Given the description of an element on the screen output the (x, y) to click on. 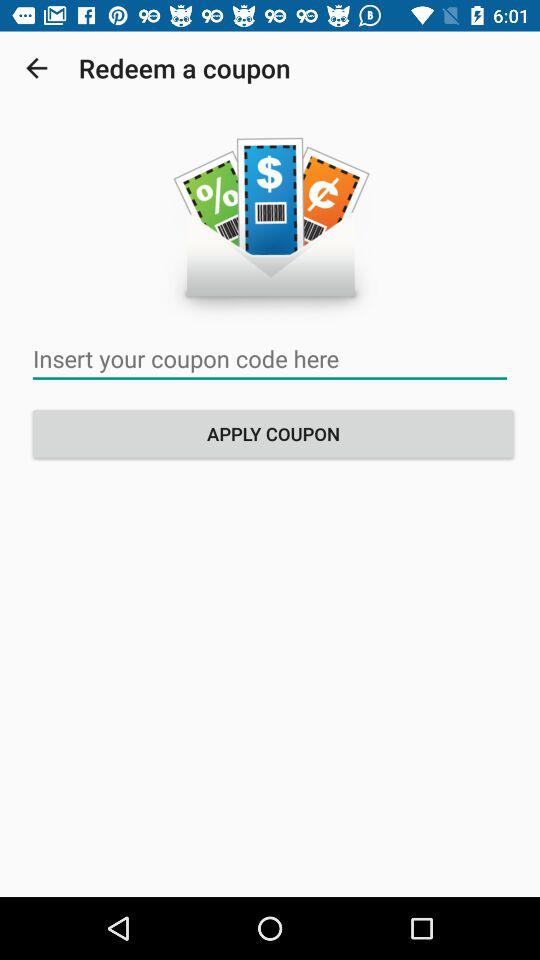
clique para inserir seu cdico de cupom aqui (269, 358)
